Given the description of an element on the screen output the (x, y) to click on. 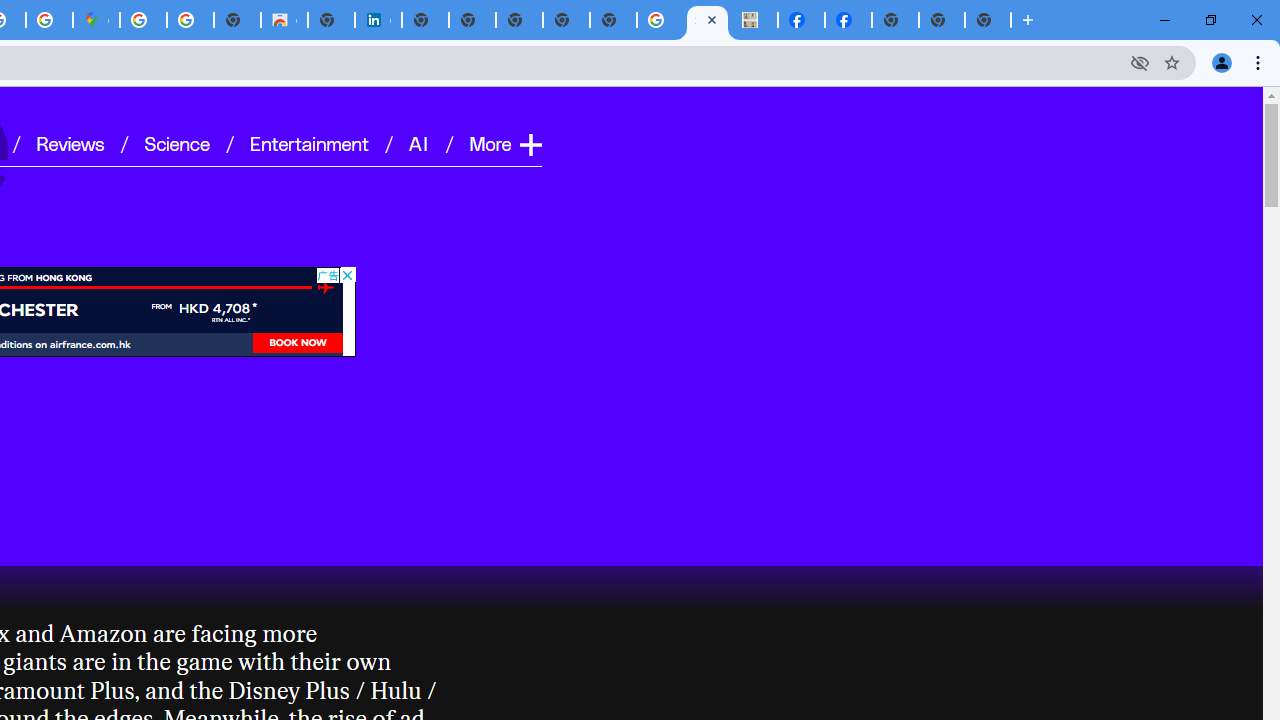
Expand (529, 144)
